Given the description of an element on the screen output the (x, y) to click on. 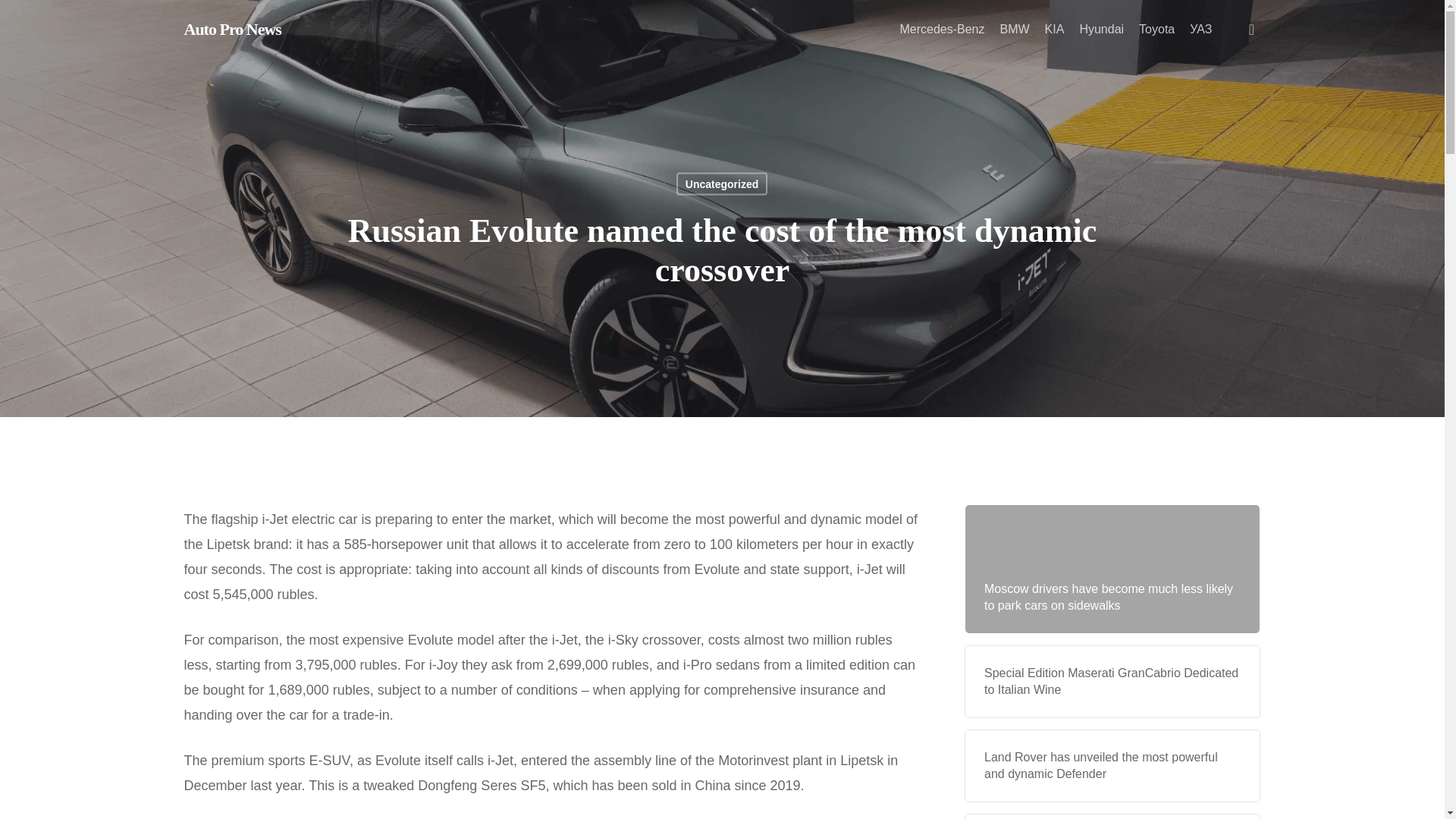
BMW (1013, 29)
Mercedes-Benz (941, 29)
Auto Pro News (232, 29)
